Given the description of an element on the screen output the (x, y) to click on. 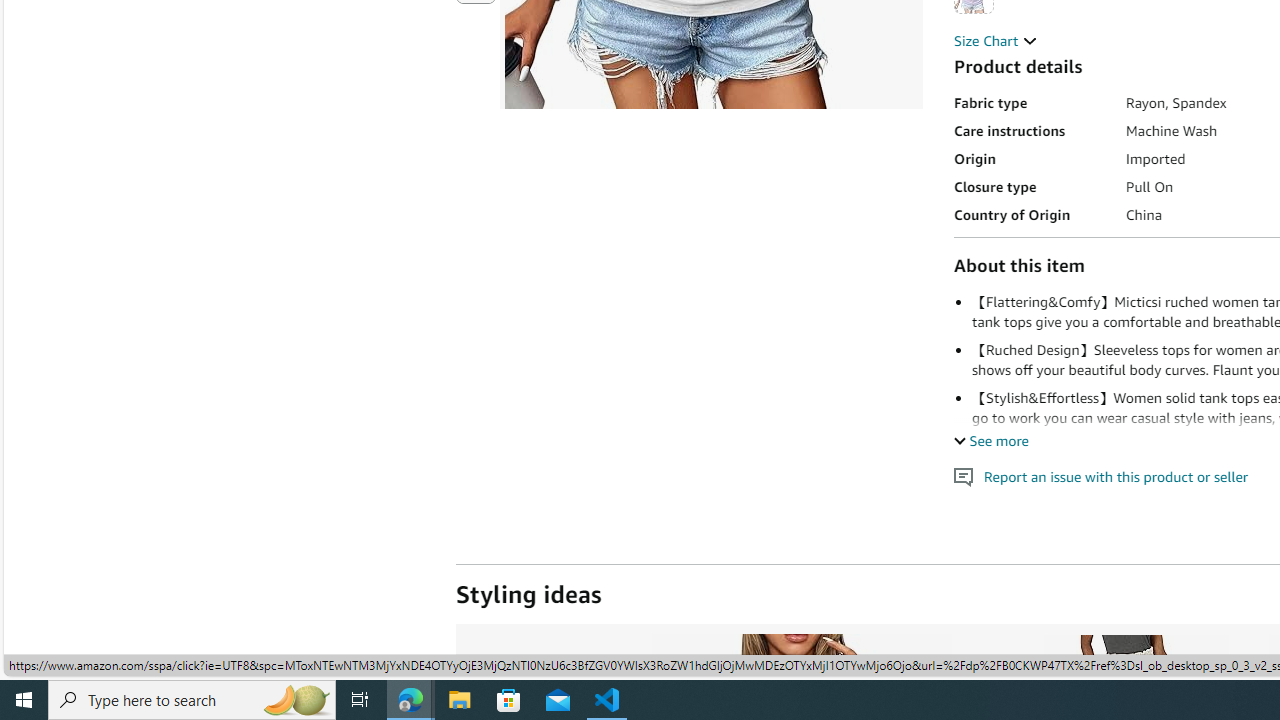
Size Chart  (995, 40)
Report an issue with this product or seller (963, 477)
